Given the description of an element on the screen output the (x, y) to click on. 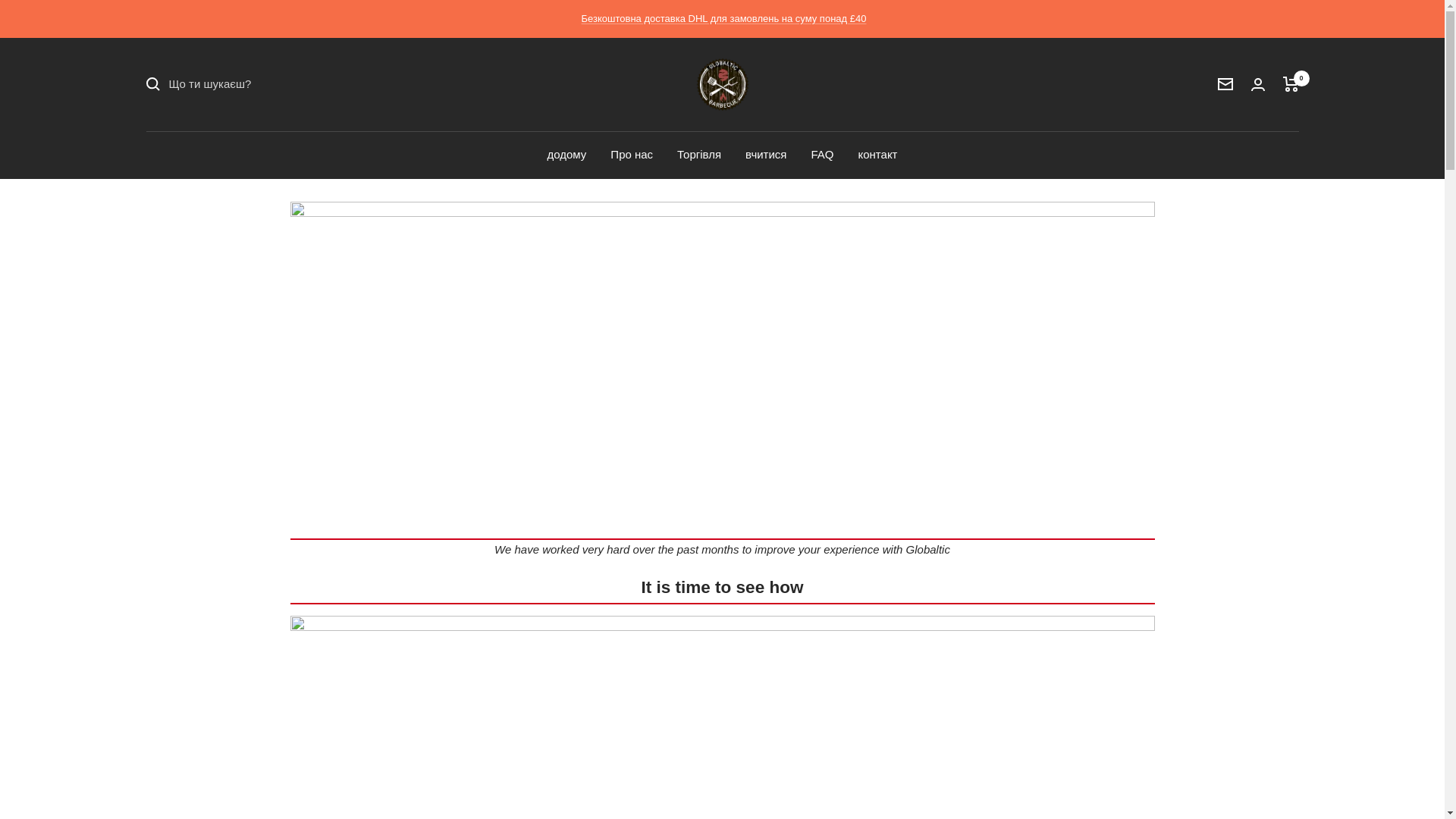
0 (1290, 83)
Globaltic (721, 84)
FAQ (821, 154)
